Given the description of an element on the screen output the (x, y) to click on. 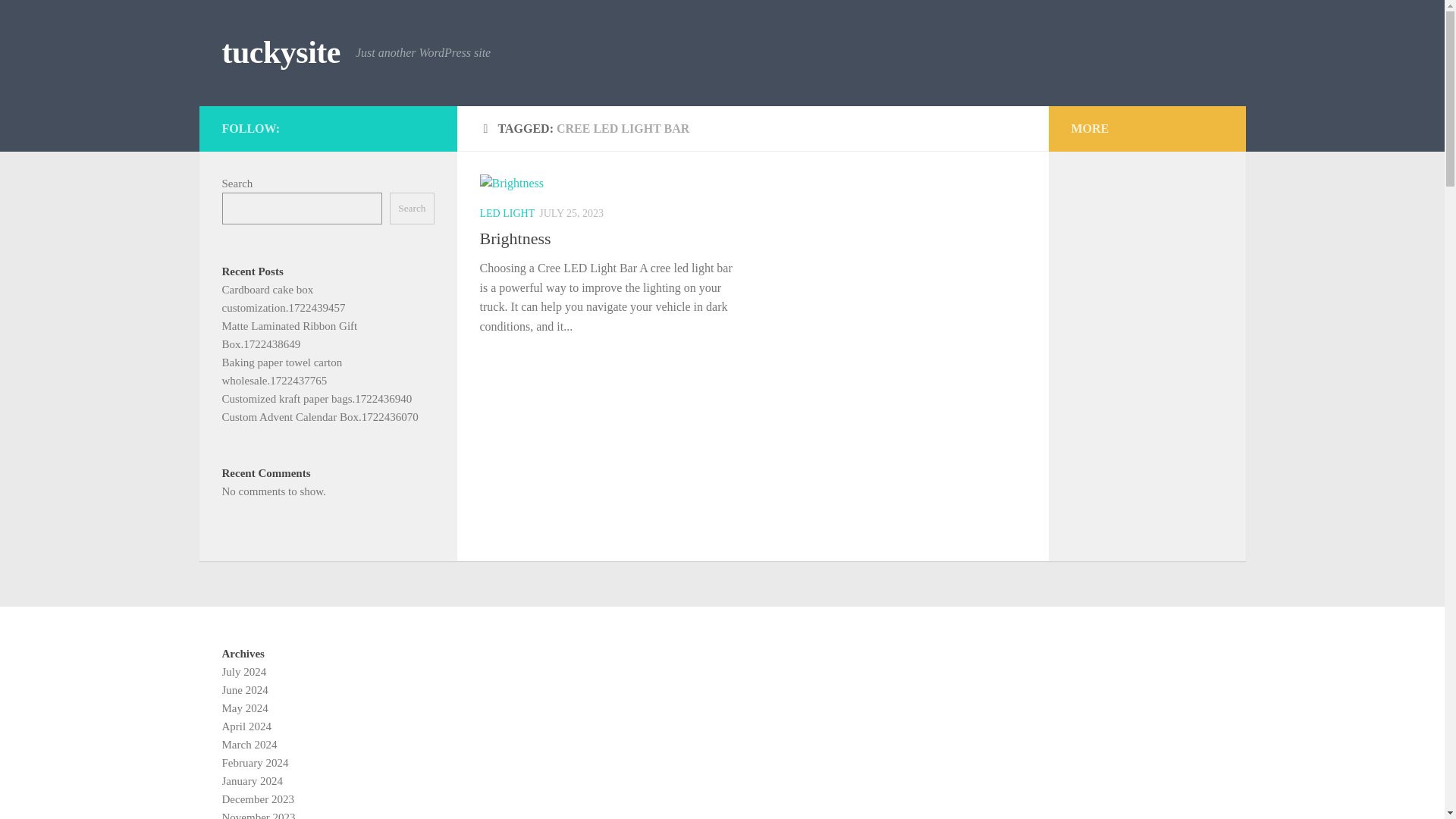
June 2024 (244, 689)
March 2024 (248, 744)
Custom Advent Calendar Box.1722436070 (319, 417)
April 2024 (245, 726)
Search (411, 208)
July 2024 (243, 671)
May 2024 (244, 707)
January 2024 (251, 780)
Skip to content (59, 20)
December 2023 (257, 799)
tuckysite (280, 53)
LED LIGHT (506, 213)
November 2023 (258, 815)
Matte Laminated Ribbon Gift Box.1722438649 (288, 335)
Brightness (514, 238)
